Given the description of an element on the screen output the (x, y) to click on. 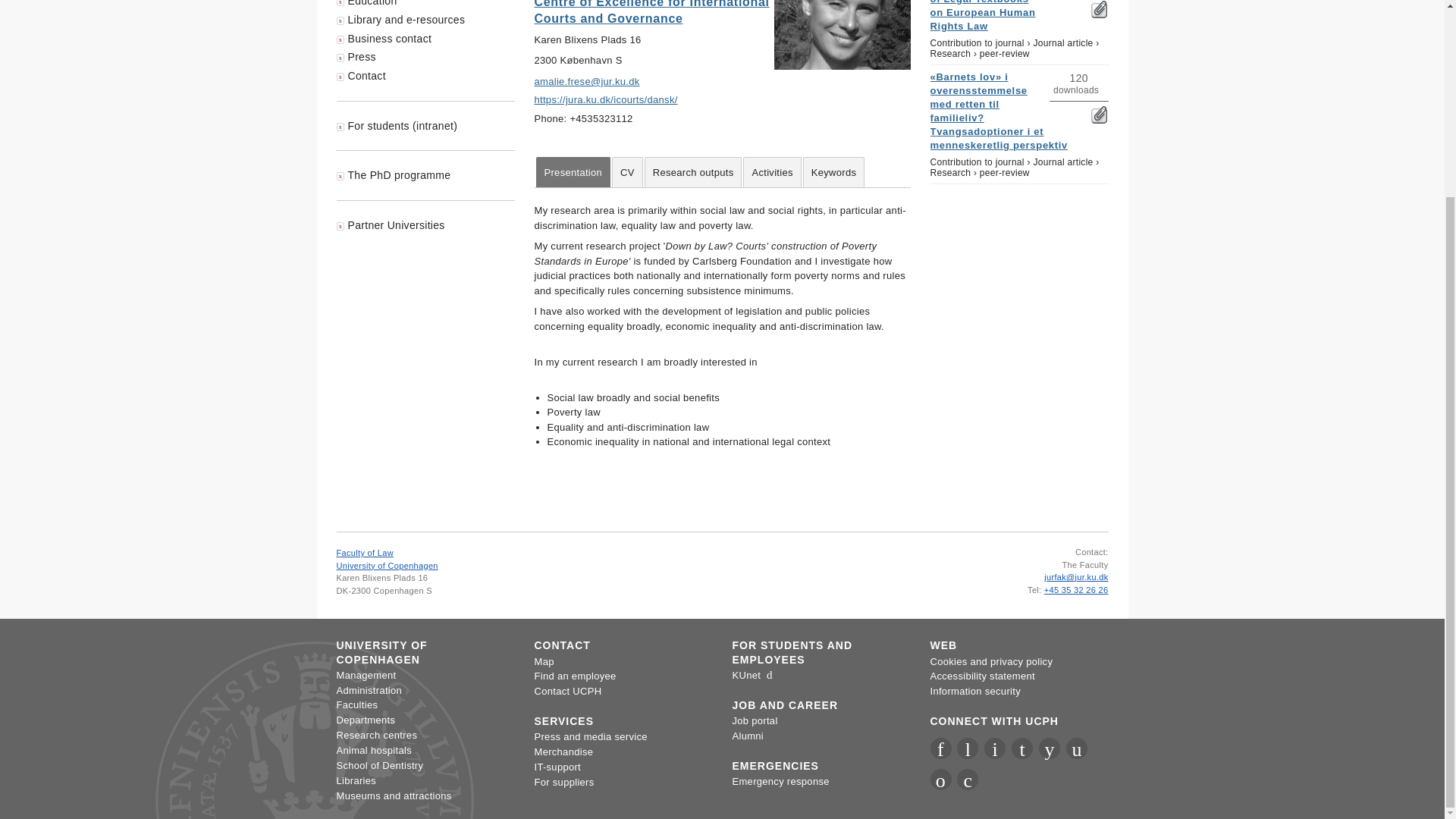
1 (1098, 9)
1 (1098, 114)
Phone number (1034, 589)
